Given the description of an element on the screen output the (x, y) to click on. 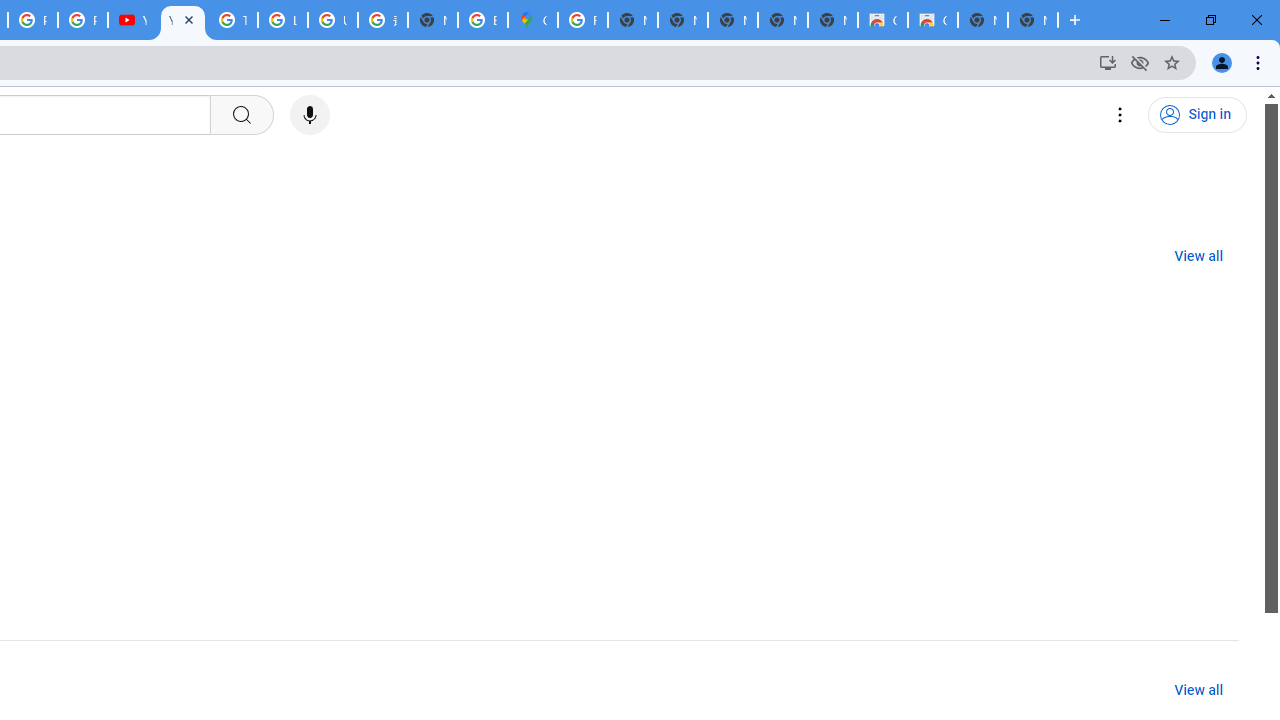
New Tab (1032, 20)
Search (240, 115)
Sign in (1197, 115)
Privacy Checkup (82, 20)
YouTube (182, 20)
Classic Blue - Chrome Web Store (932, 20)
Third-party cookies blocked (1139, 62)
Settings (1119, 115)
Tips & tricks for Chrome - Google Chrome Help (232, 20)
